Given the description of an element on the screen output the (x, y) to click on. 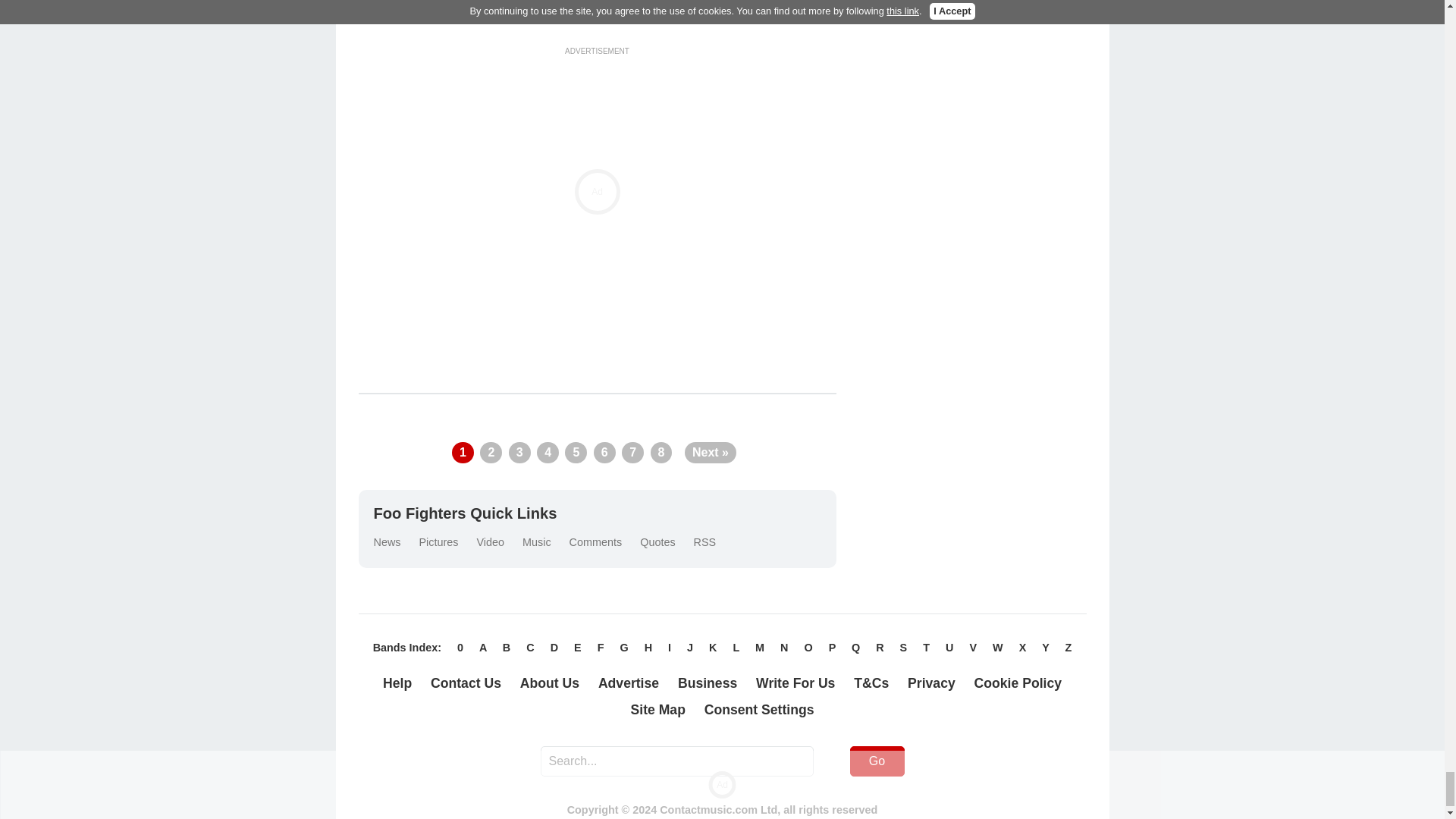
Go (876, 761)
